Given the description of an element on the screen output the (x, y) to click on. 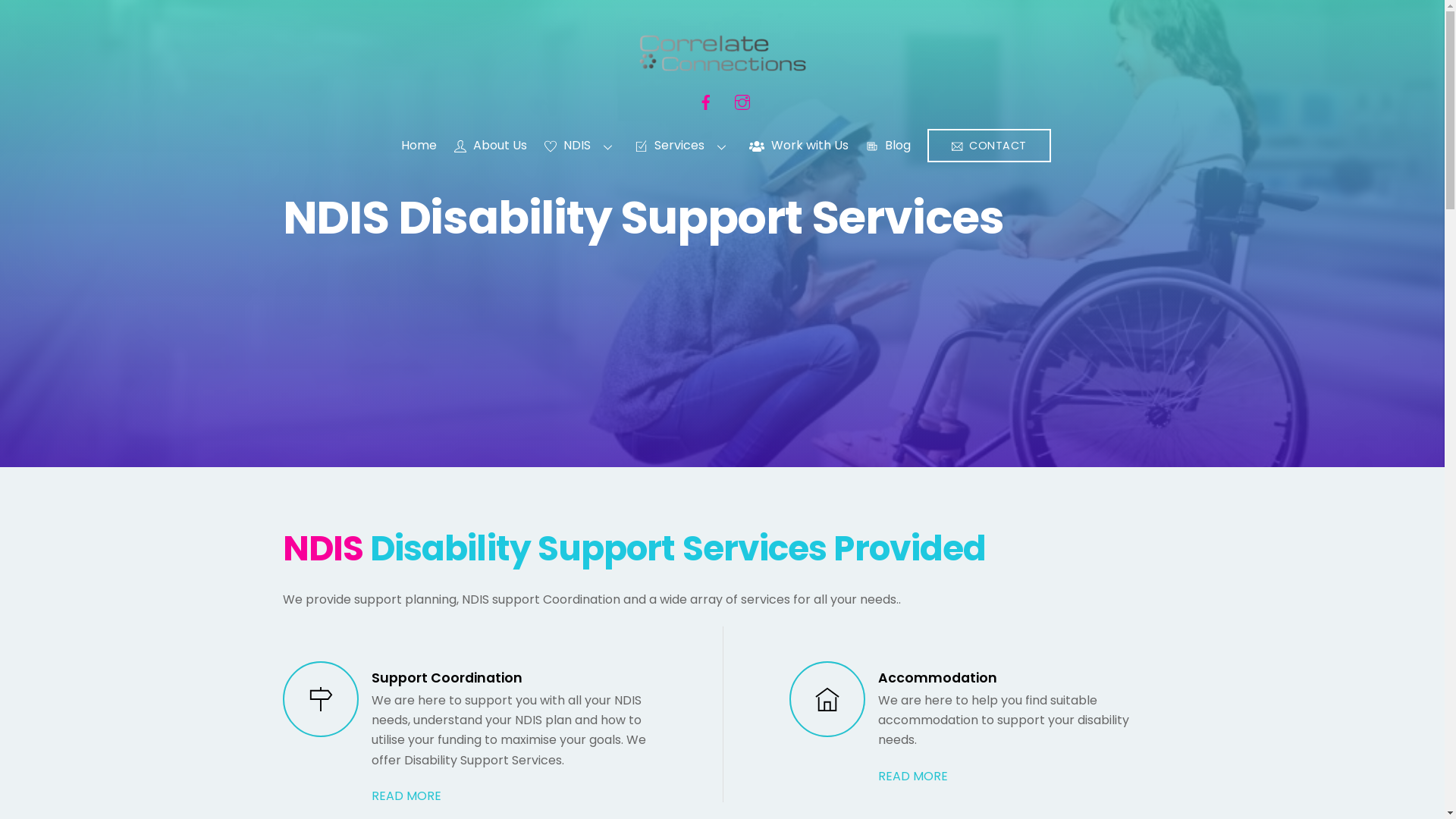
Services Element type: text (682, 145)
logo Element type: hover (721, 52)
Work with Us Element type: text (798, 145)
CONTACT Element type: text (988, 144)
Home Element type: text (418, 145)
READ MORE Element type: text (912, 775)
NDIS Element type: text (581, 145)
About Us Element type: text (490, 145)
NDIS Service Support Provider Campbelltown Element type: hover (721, 63)
READ MORE Element type: text (406, 795)
Blog Element type: text (887, 145)
